Given the description of an element on the screen output the (x, y) to click on. 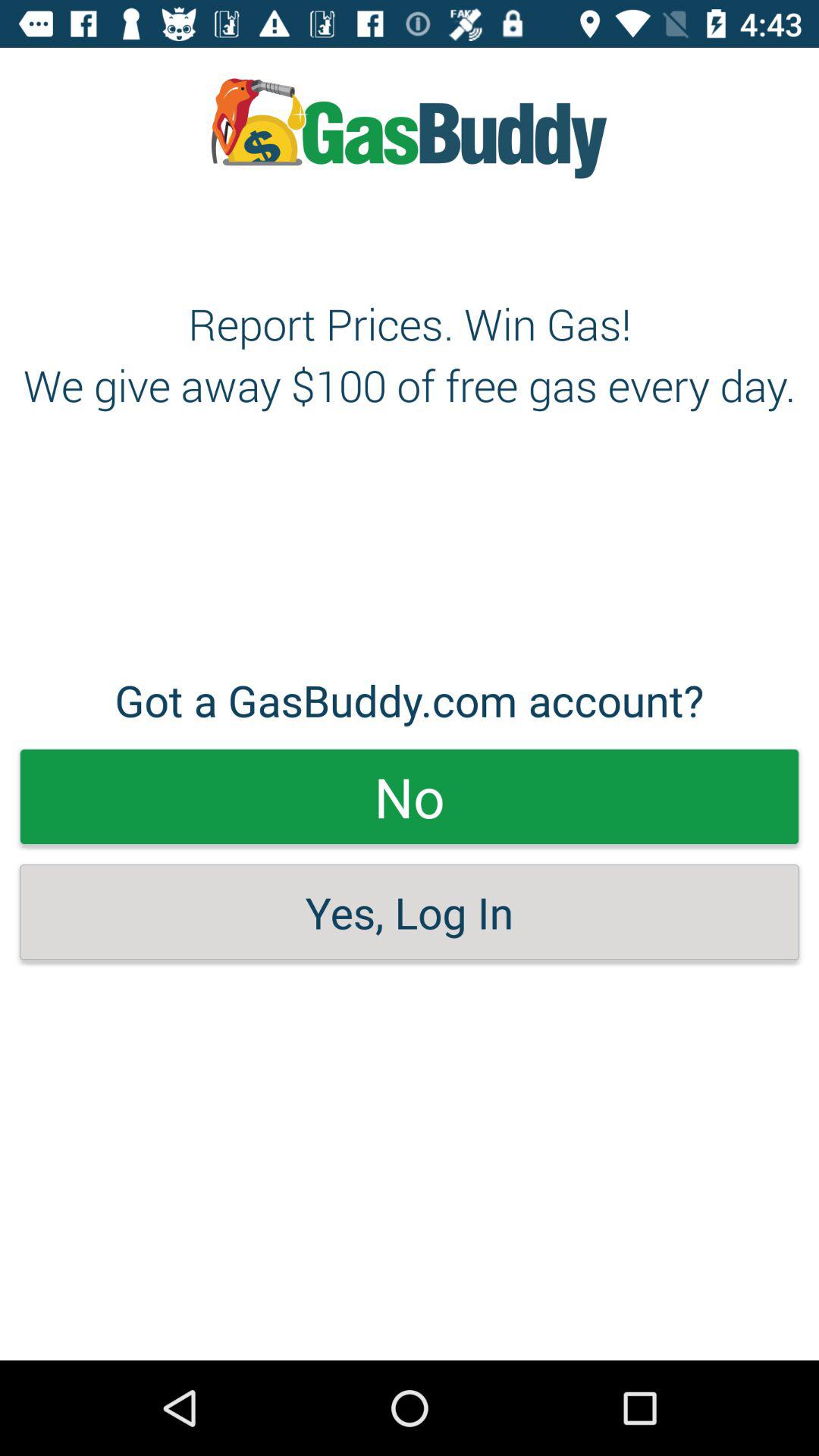
scroll to the no item (409, 796)
